Given the description of an element on the screen output the (x, y) to click on. 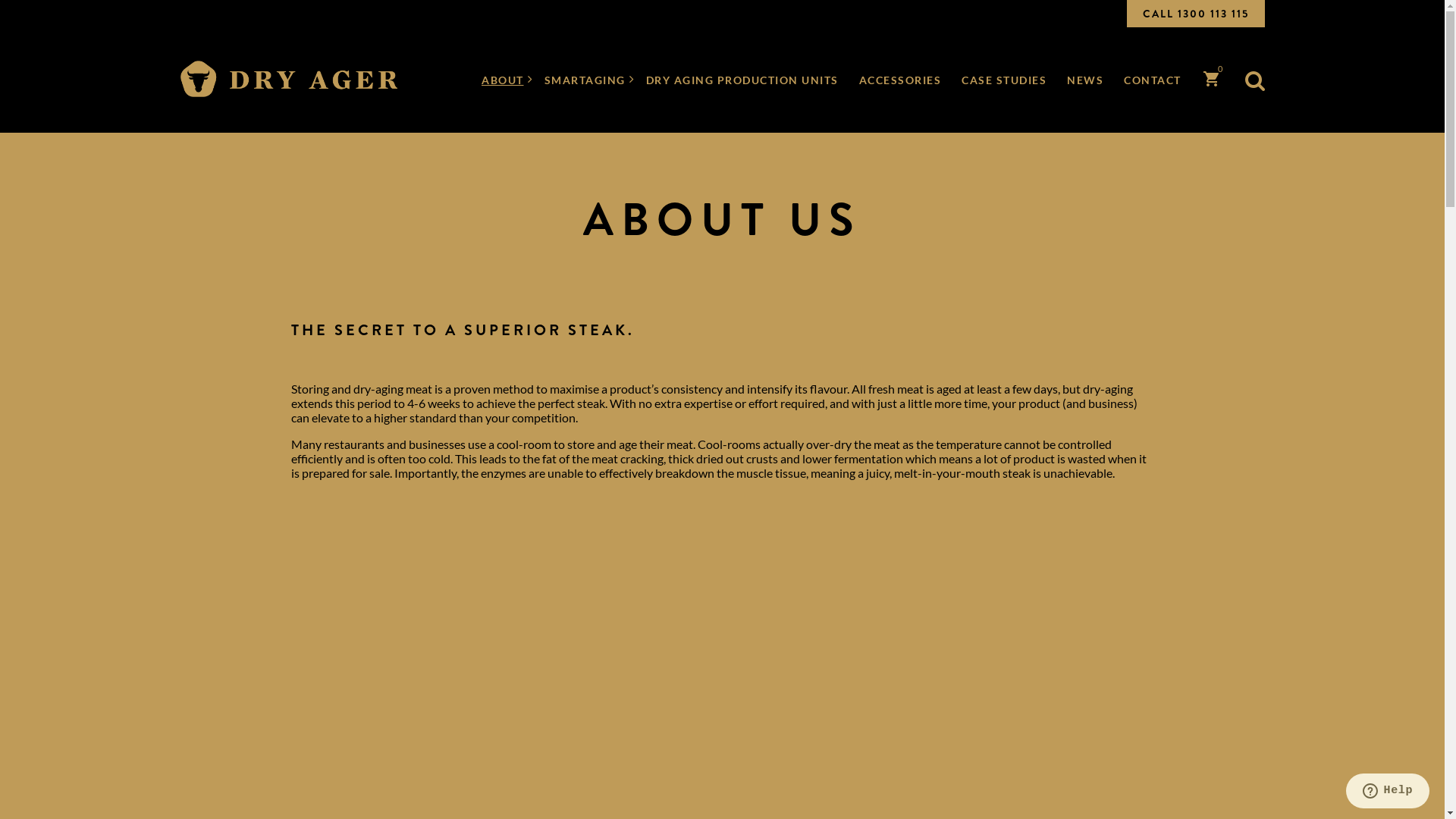
SEARCH Element type: text (929, 409)
CASE STUDIES Element type: text (1003, 79)
CONTACT Element type: text (1152, 79)
Opens a widget where you can chat to one of our agents Element type: hover (1387, 792)
ABOUT Element type: text (502, 79)
Dry Ager Australia & NZ Element type: hover (288, 79)
NEWS Element type: text (1084, 79)
DRY AGING PRODUCTION UNITS Element type: text (742, 79)
CALL 1300 113 115 Element type: text (1195, 13)
Chatbot Element type: hover (1383, 757)
ACCESSORIES Element type: text (899, 79)
shopping_cart
0 Element type: text (1211, 82)
SMARTAGING Element type: text (584, 79)
